Given the description of an element on the screen output the (x, y) to click on. 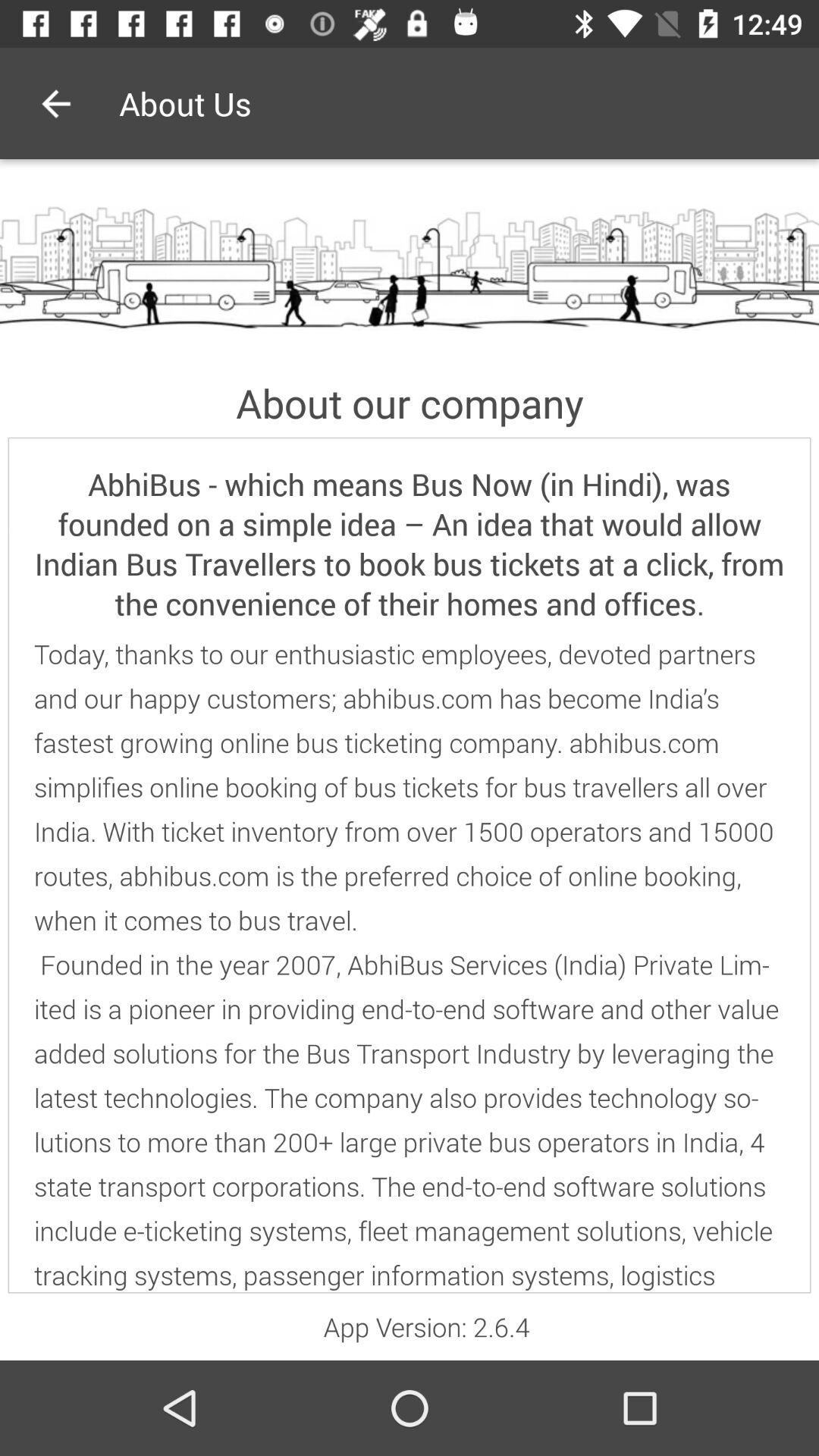
tap the icon above the app version 2 item (409, 964)
